Given the description of an element on the screen output the (x, y) to click on. 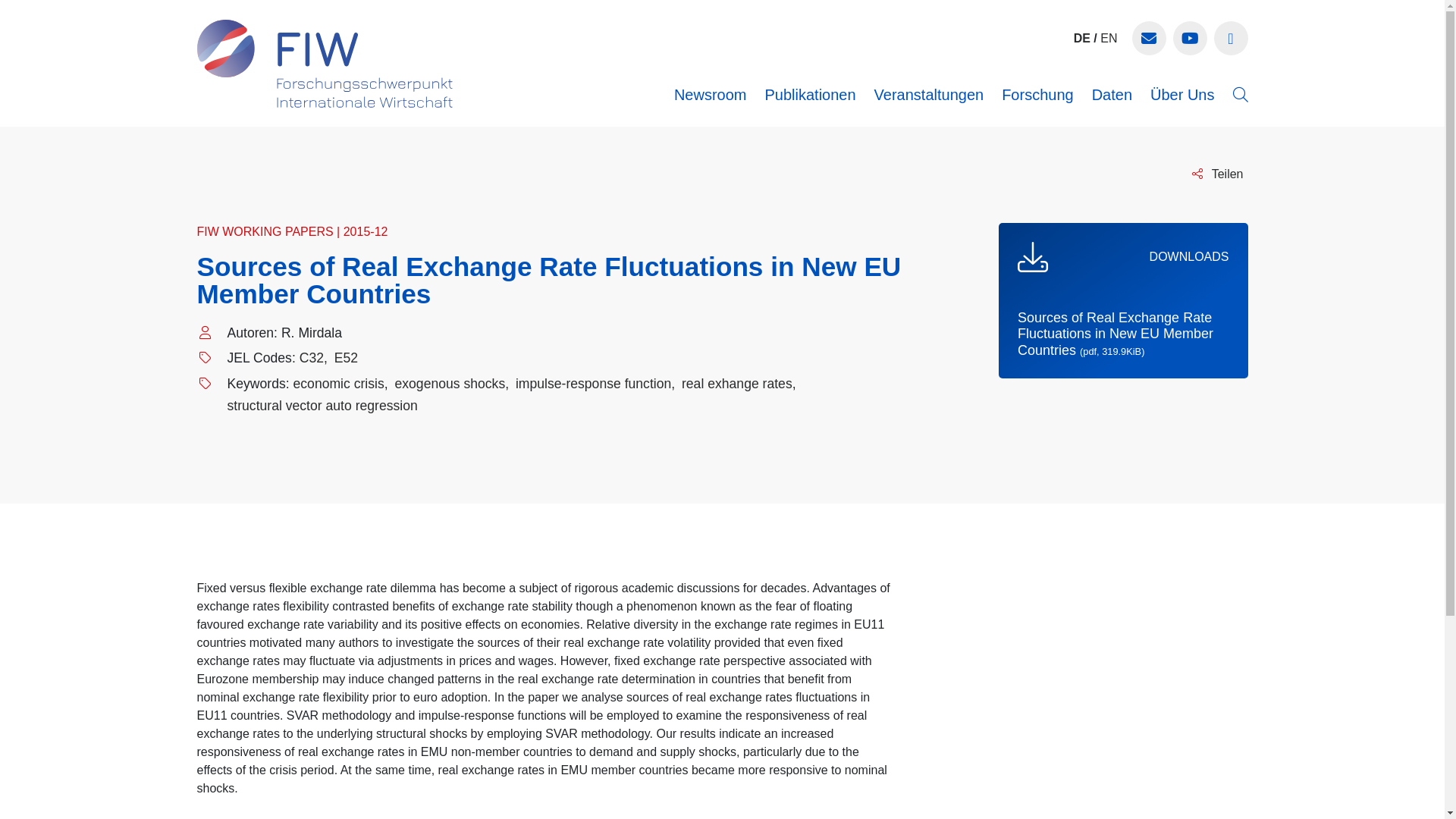
Forschung (1037, 94)
Publikationen (810, 94)
Veranstaltungen (929, 94)
Newsroom (710, 94)
DE (1082, 38)
EN (1108, 38)
Daten (1112, 94)
